Given the description of an element on the screen output the (x, y) to click on. 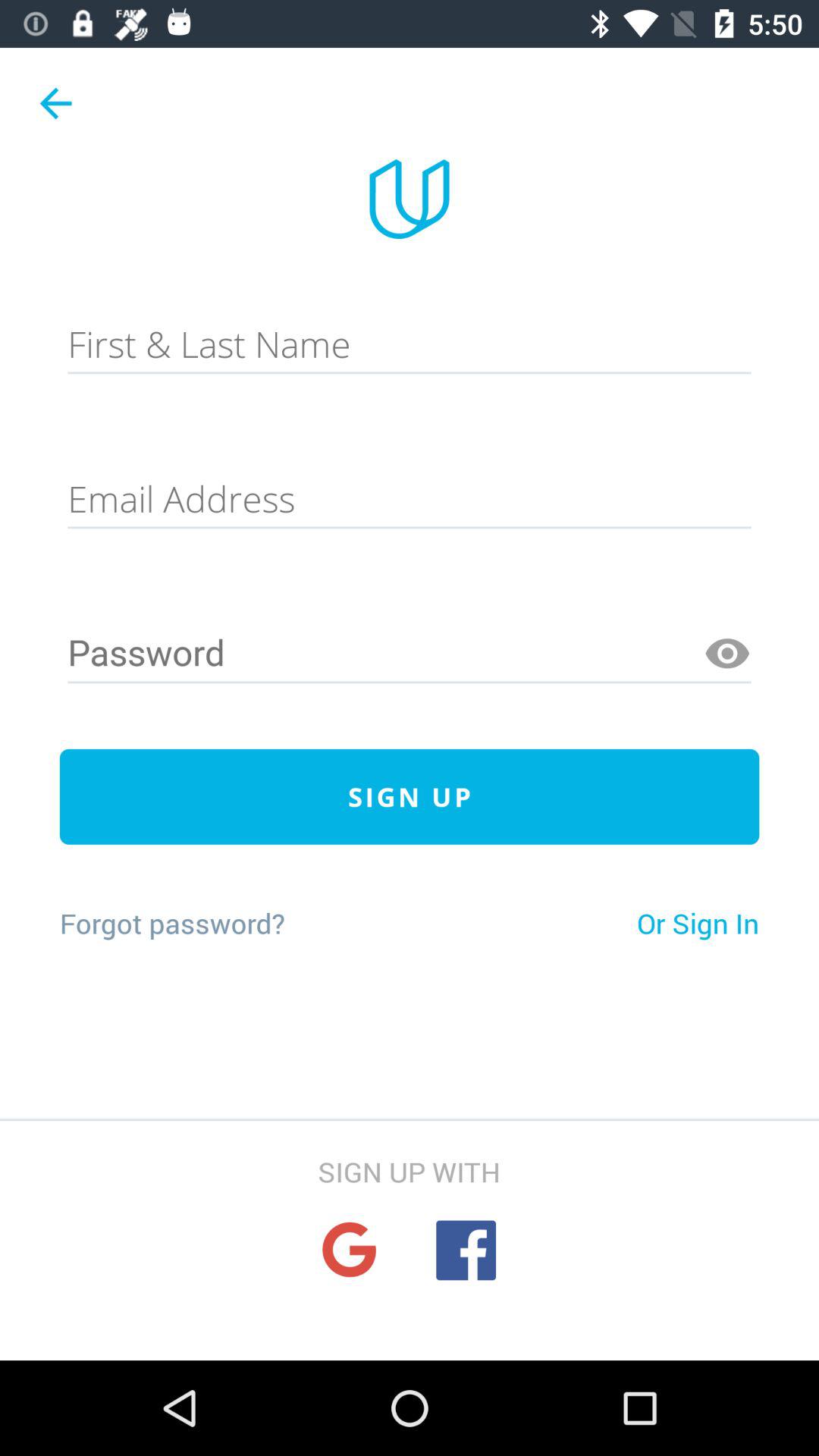
launch the forgot password? on the left (171, 922)
